Given the description of an element on the screen output the (x, y) to click on. 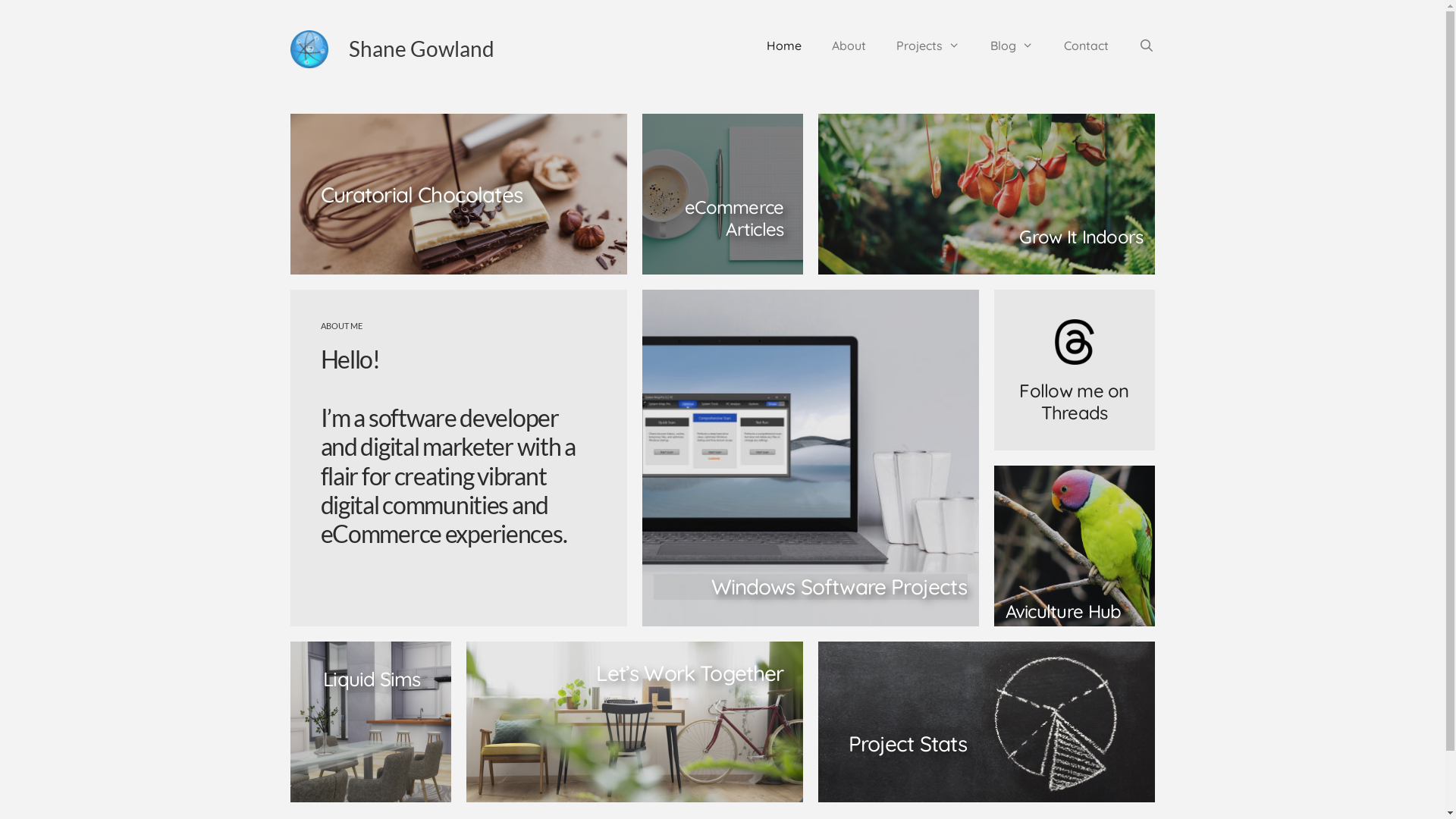
threads Element type: hover (1073, 341)
Projects Element type: text (928, 45)
Shane Gowland Element type: text (421, 48)
Home Element type: text (783, 45)
About Element type: text (848, 45)
Contact Element type: text (1085, 45)
Blog Element type: text (1011, 45)
